Given the description of an element on the screen output the (x, y) to click on. 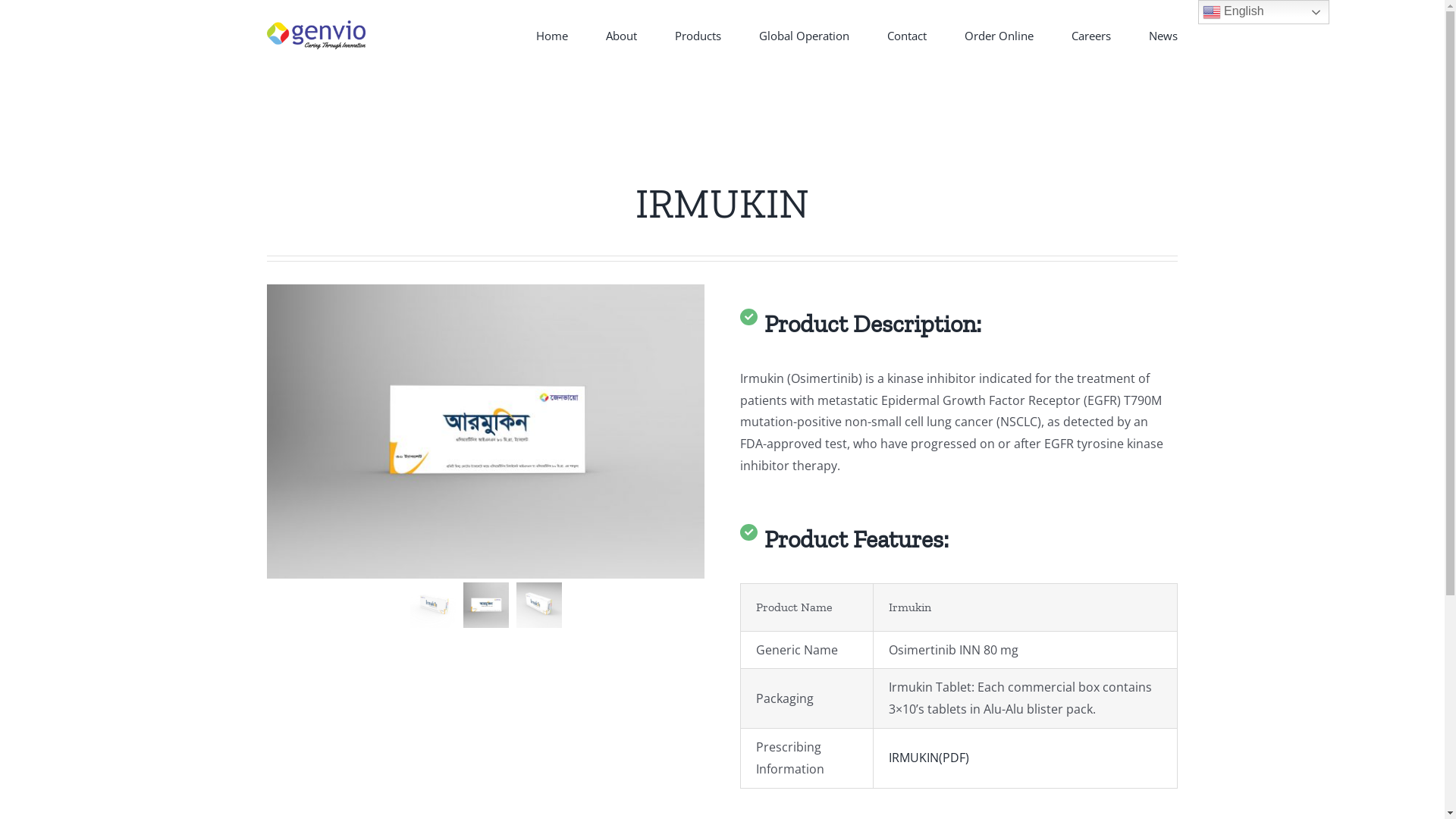
Products Element type: text (697, 34)
Careers Element type: text (1090, 34)
Home Element type: text (551, 34)
News Element type: text (1162, 34)
About Element type: text (621, 34)
Global Operation Element type: text (804, 34)
Contact Element type: text (906, 34)
irmukin osimertinib inn 80 mg BNG Element type: hover (484, 431)
IRMUKIN(PDF) Element type: text (928, 757)
English Element type: text (1263, 12)
Order Online Element type: text (998, 34)
